Given the description of an element on the screen output the (x, y) to click on. 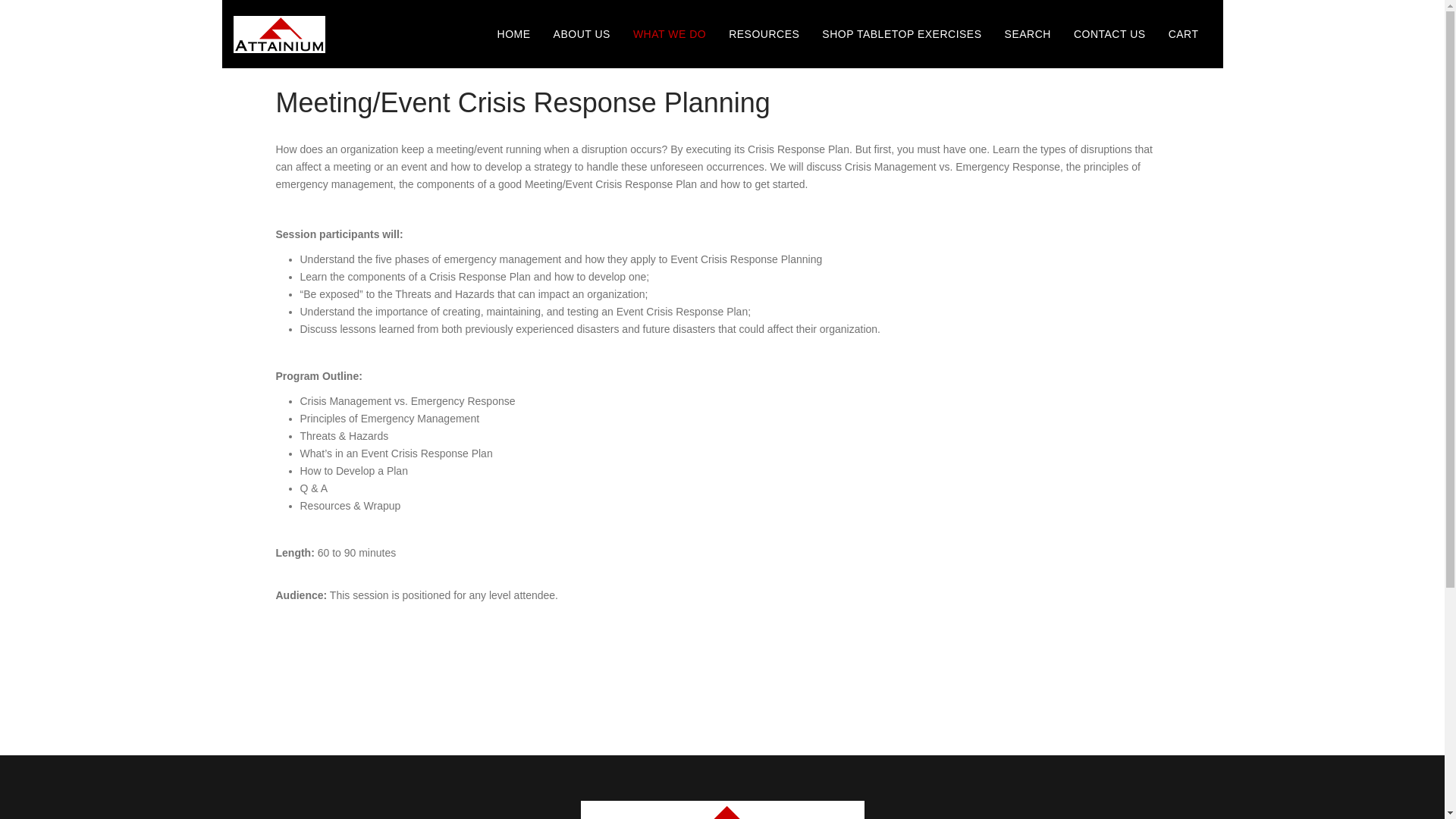
SHOP TABLETOP EXERCISES (901, 33)
ABOUT US (581, 33)
RESOURCES (763, 33)
WHAT WE DO (669, 33)
